Given the description of an element on the screen output the (x, y) to click on. 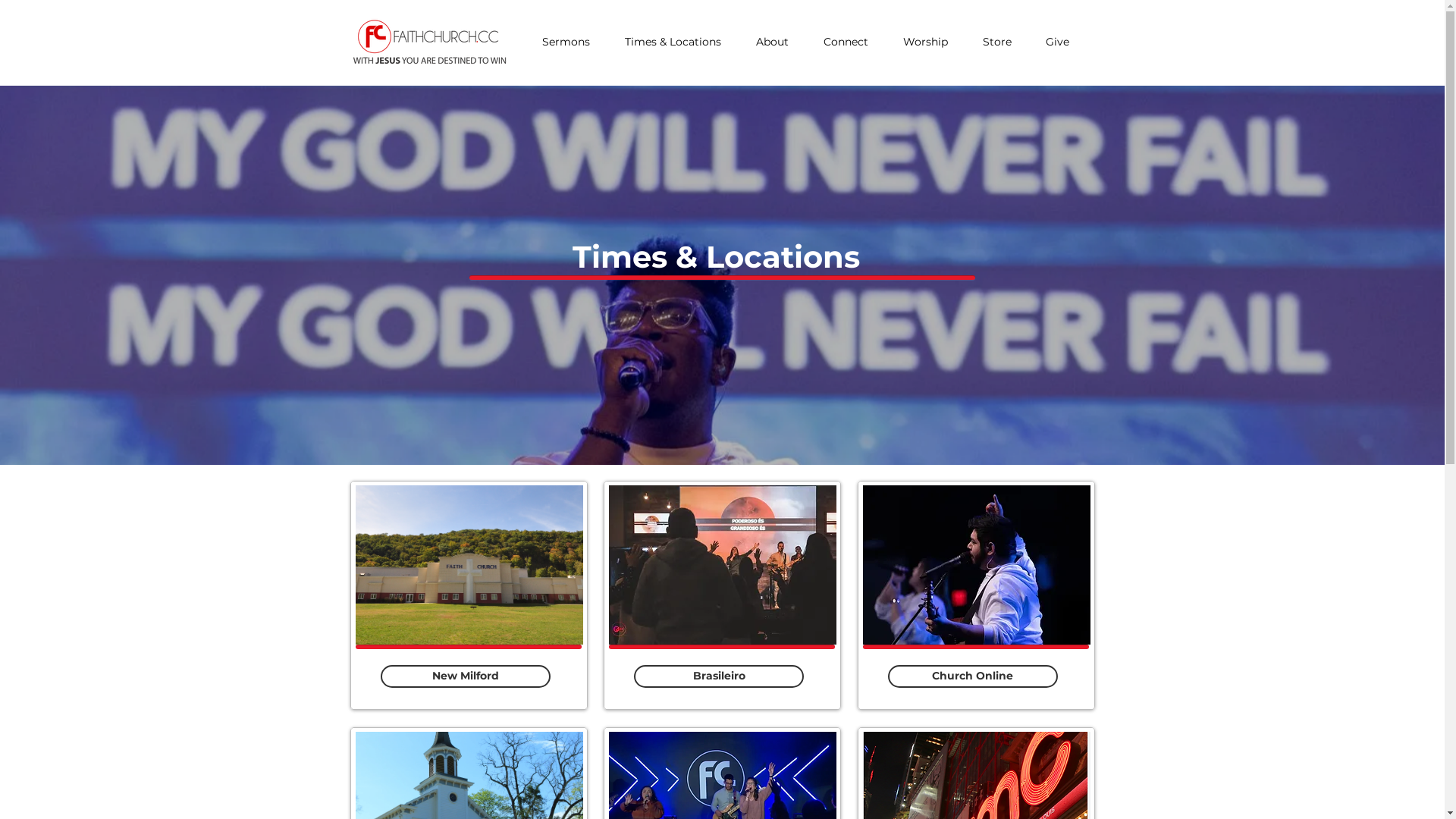
Connect Element type: text (851, 41)
Give Element type: text (1063, 41)
Times & Locations Element type: text (677, 41)
Sermons Element type: text (571, 41)
New Milford Element type: text (465, 676)
Brasileiro Element type: text (718, 676)
Store Element type: text (1001, 41)
Church Online Element type: text (972, 676)
About Element type: text (778, 41)
Worship Element type: text (931, 41)
